Given the description of an element on the screen output the (x, y) to click on. 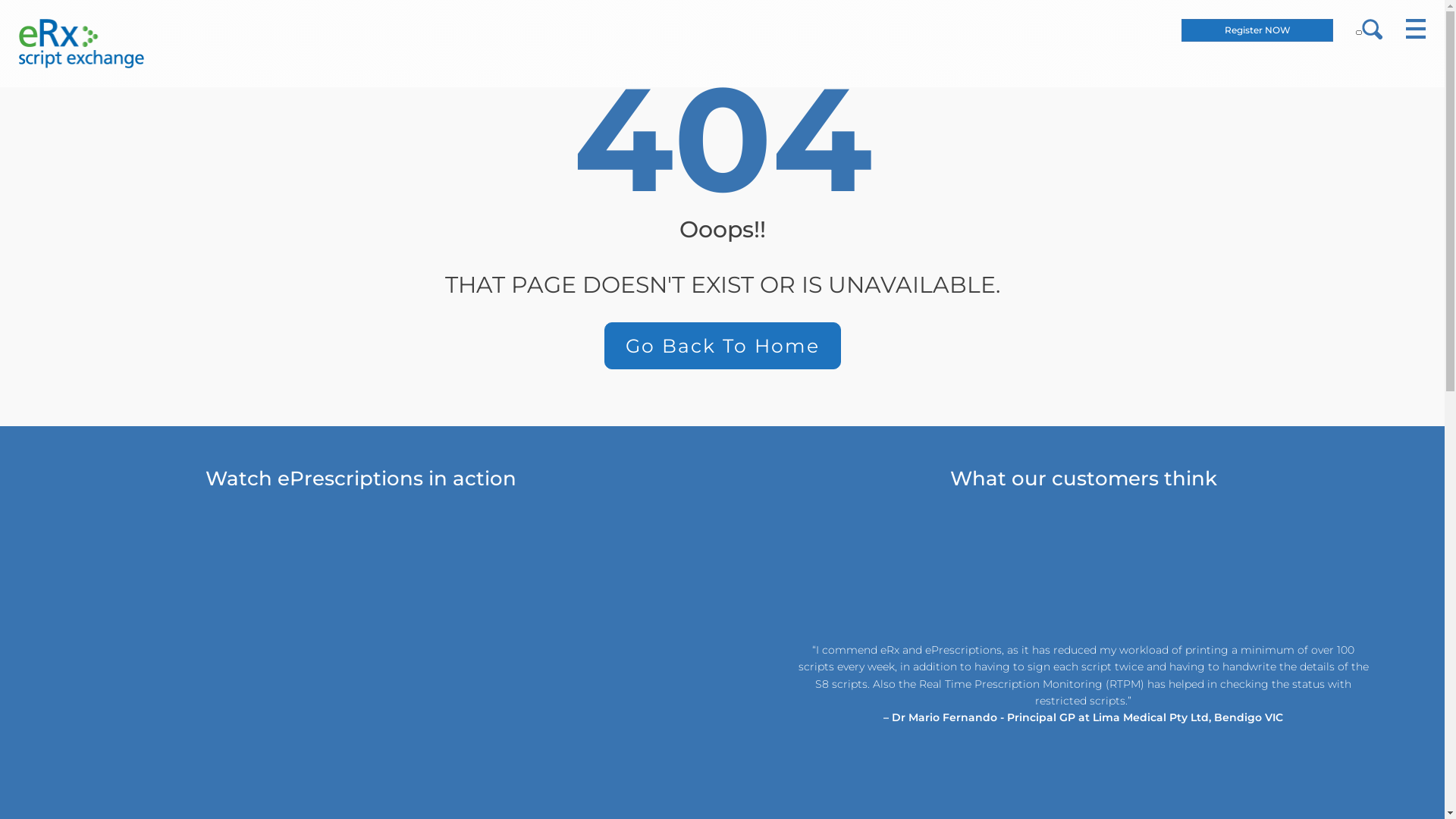
Go Back To Home Element type: text (721, 345)
Register NOW Element type: text (1257, 29)
Search Element type: text (10, 10)
